Given the description of an element on the screen output the (x, y) to click on. 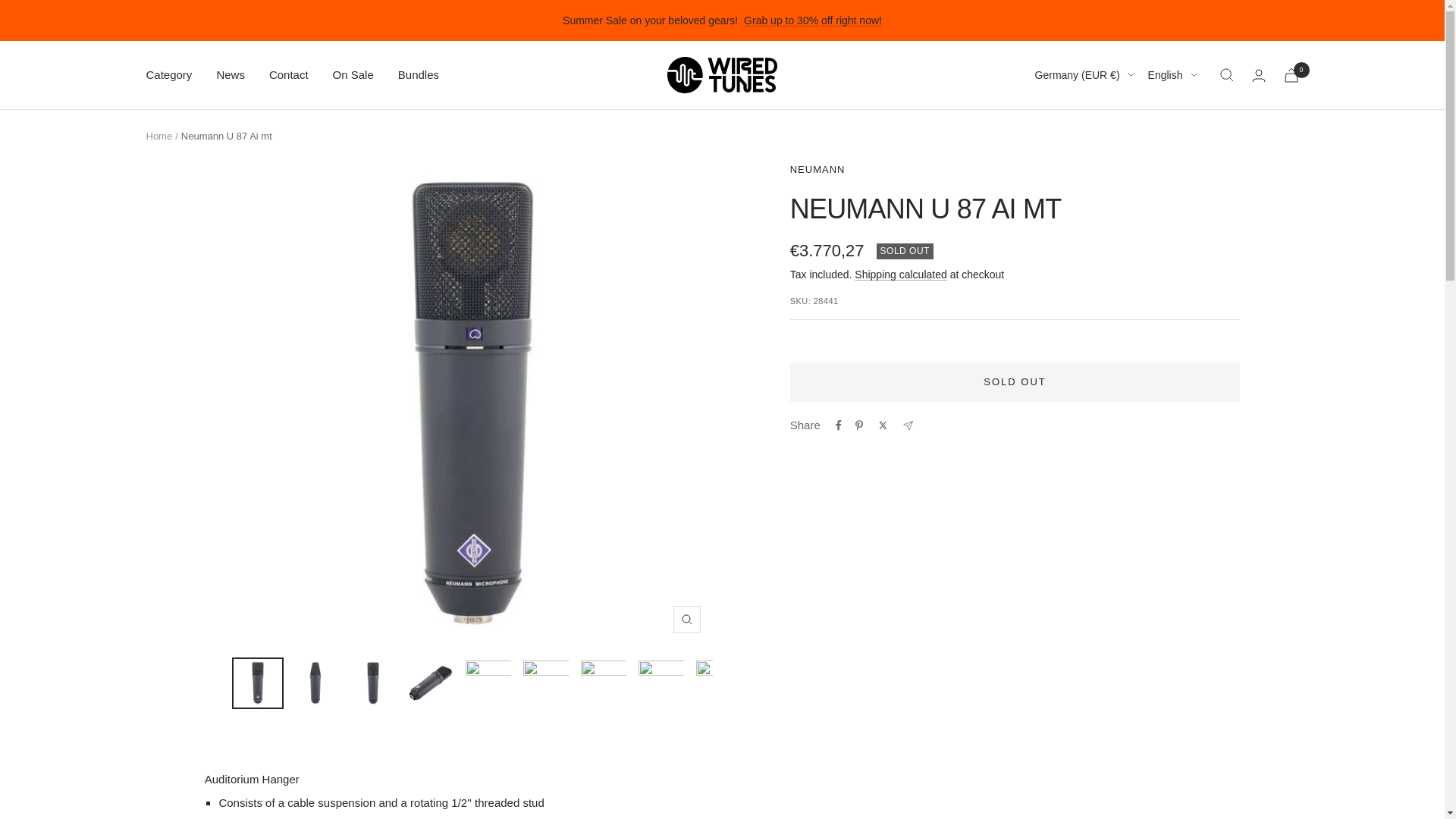
RO (1055, 727)
FI (1055, 352)
Wired Tunes (721, 74)
IT (1055, 502)
AT (1055, 152)
On Sale (353, 75)
FR (1055, 377)
CZ (1055, 277)
CY (1055, 252)
MT (1055, 628)
Contact (288, 75)
ES (1055, 803)
DK (1055, 302)
Bundles (418, 75)
NL (1055, 677)
